Given the description of an element on the screen output the (x, y) to click on. 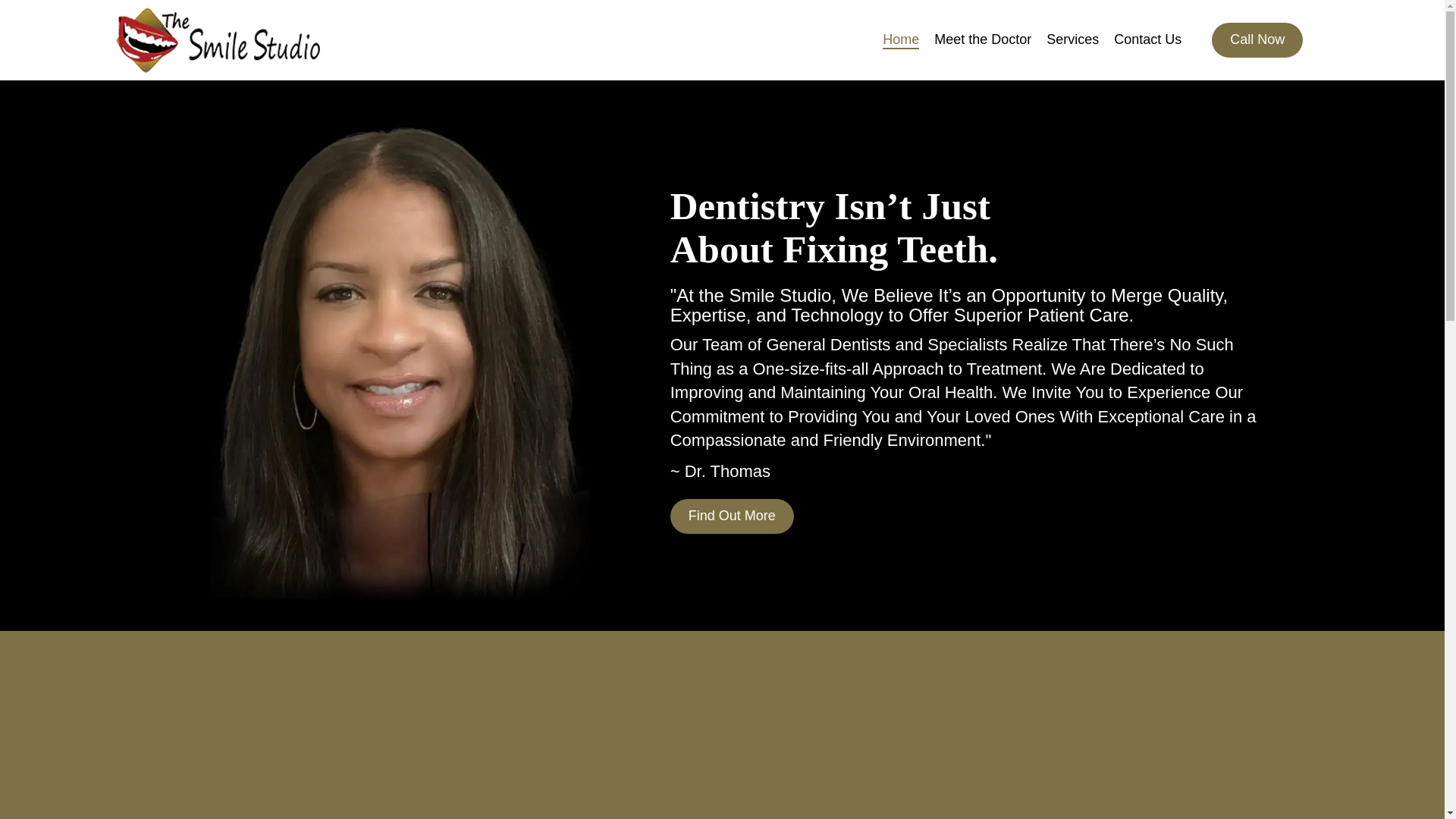
Call Now (1257, 39)
The Smile Studio (216, 39)
Contact Us (1146, 40)
Services (1072, 40)
Find Out More (731, 515)
Home (900, 40)
Meet the Doctor (982, 40)
